Given the description of an element on the screen output the (x, y) to click on. 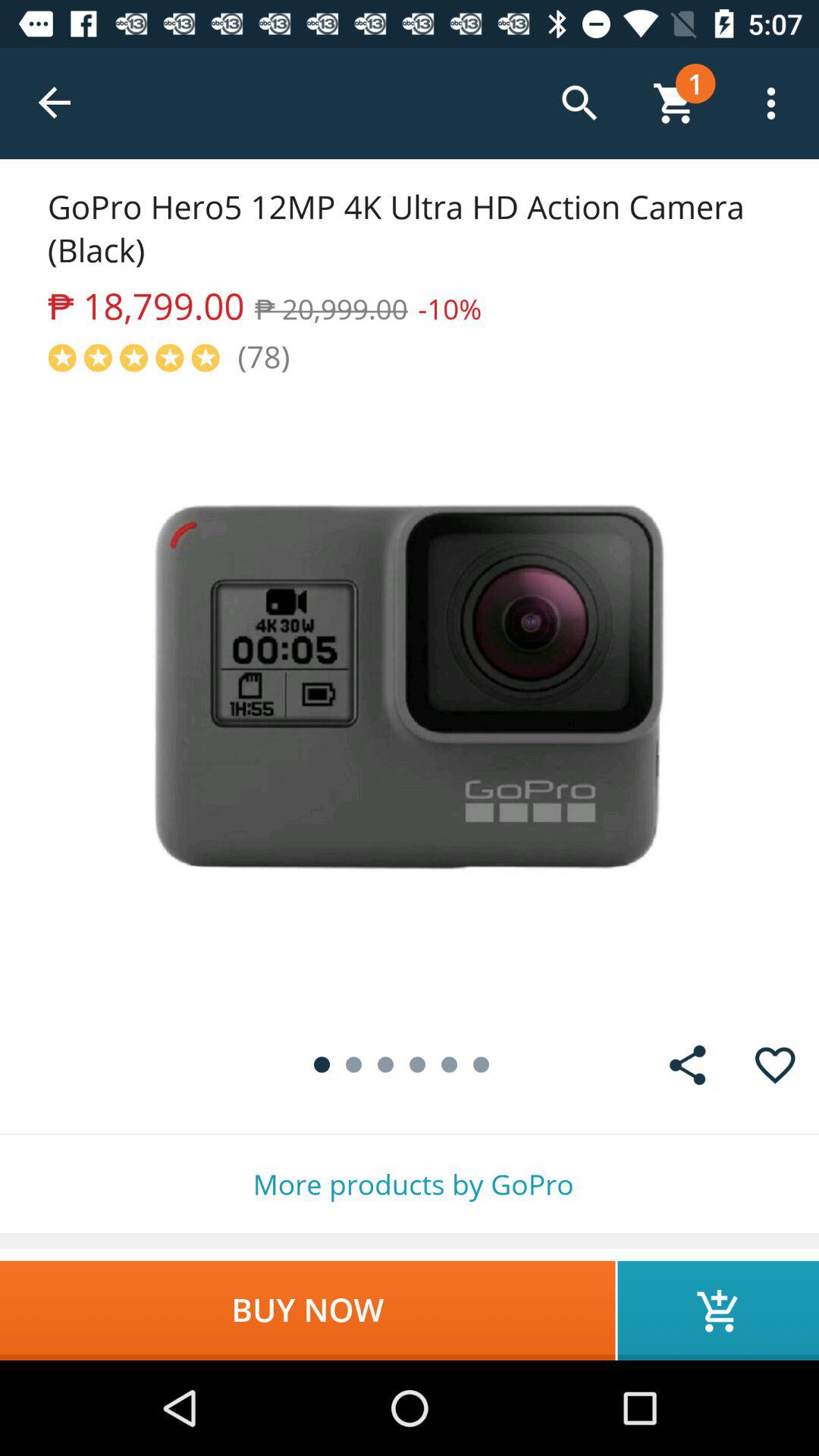
turn on the item above more products by (775, 1065)
